Given the description of an element on the screen output the (x, y) to click on. 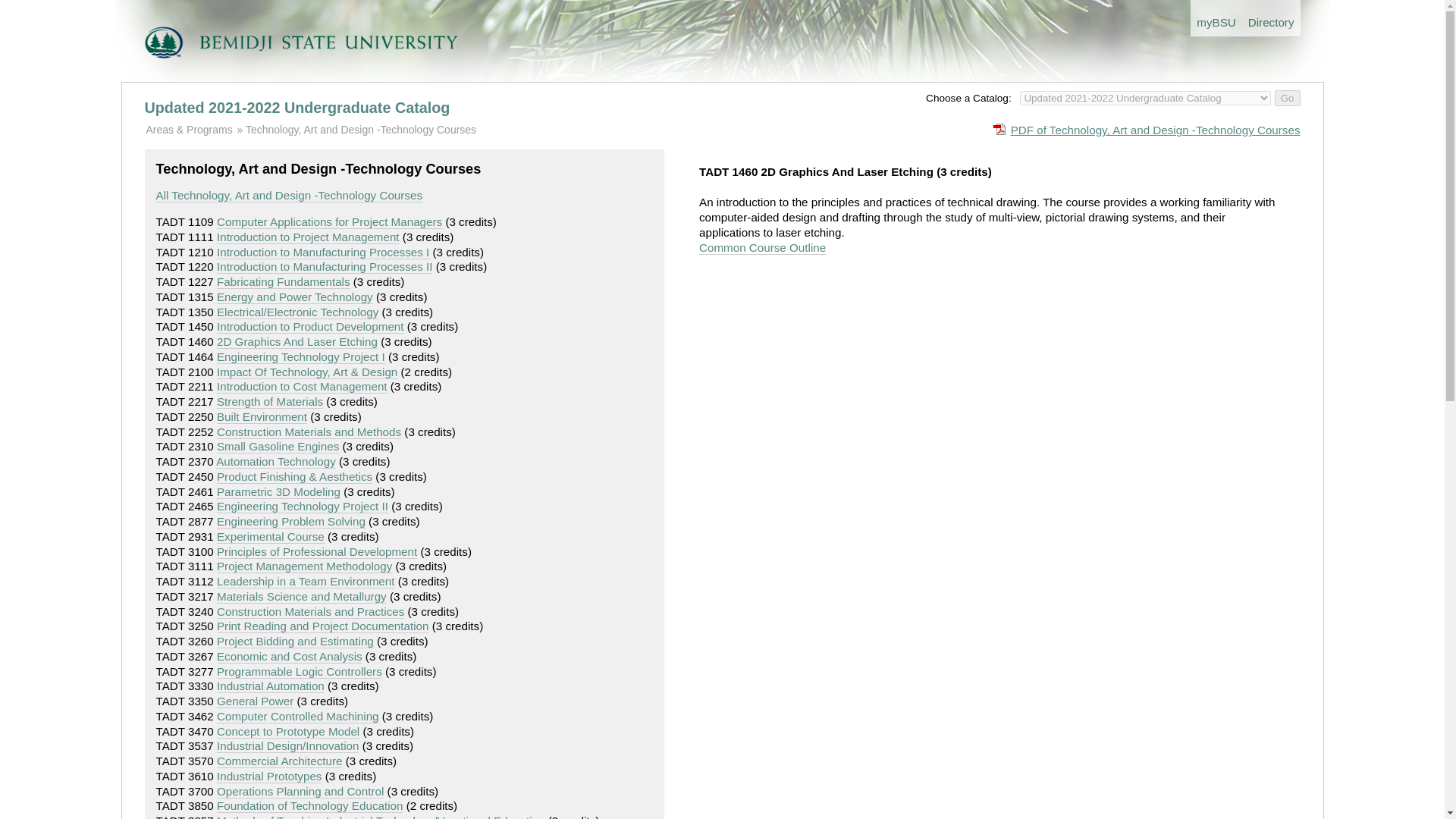
2D Graphics And Laser Etching (296, 341)
Engineering Technology Project I (300, 356)
Principles of Professional Development (316, 551)
Materials Science and Metallurgy (301, 596)
Fabricating Fundamentals (283, 282)
Leadership in a Team Environment (305, 581)
myBSU (1216, 18)
Engineering Problem Solving (290, 521)
Directory (1270, 18)
Introduction to Product Development (310, 326)
